Given the description of an element on the screen output the (x, y) to click on. 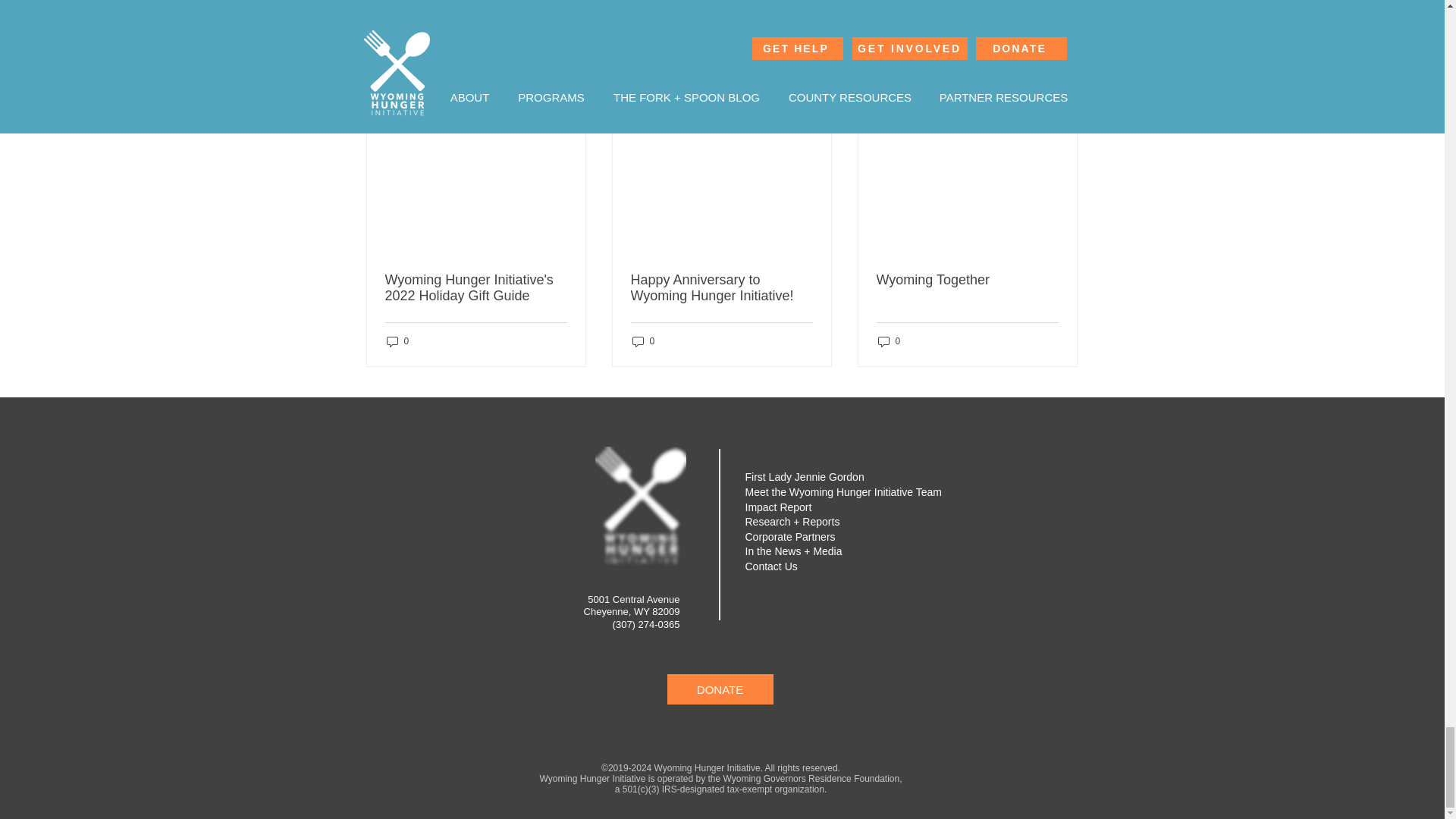
Wyoming Hunger Initiative's 2022 Holiday Gift Guide (476, 287)
0 (397, 341)
WHI In the News (963, 6)
Anti-Hunger Warriors (857, 6)
See All (1061, 104)
Happy Anniversary to Wyoming Hunger Initiative! (721, 287)
